Given the description of an element on the screen output the (x, y) to click on. 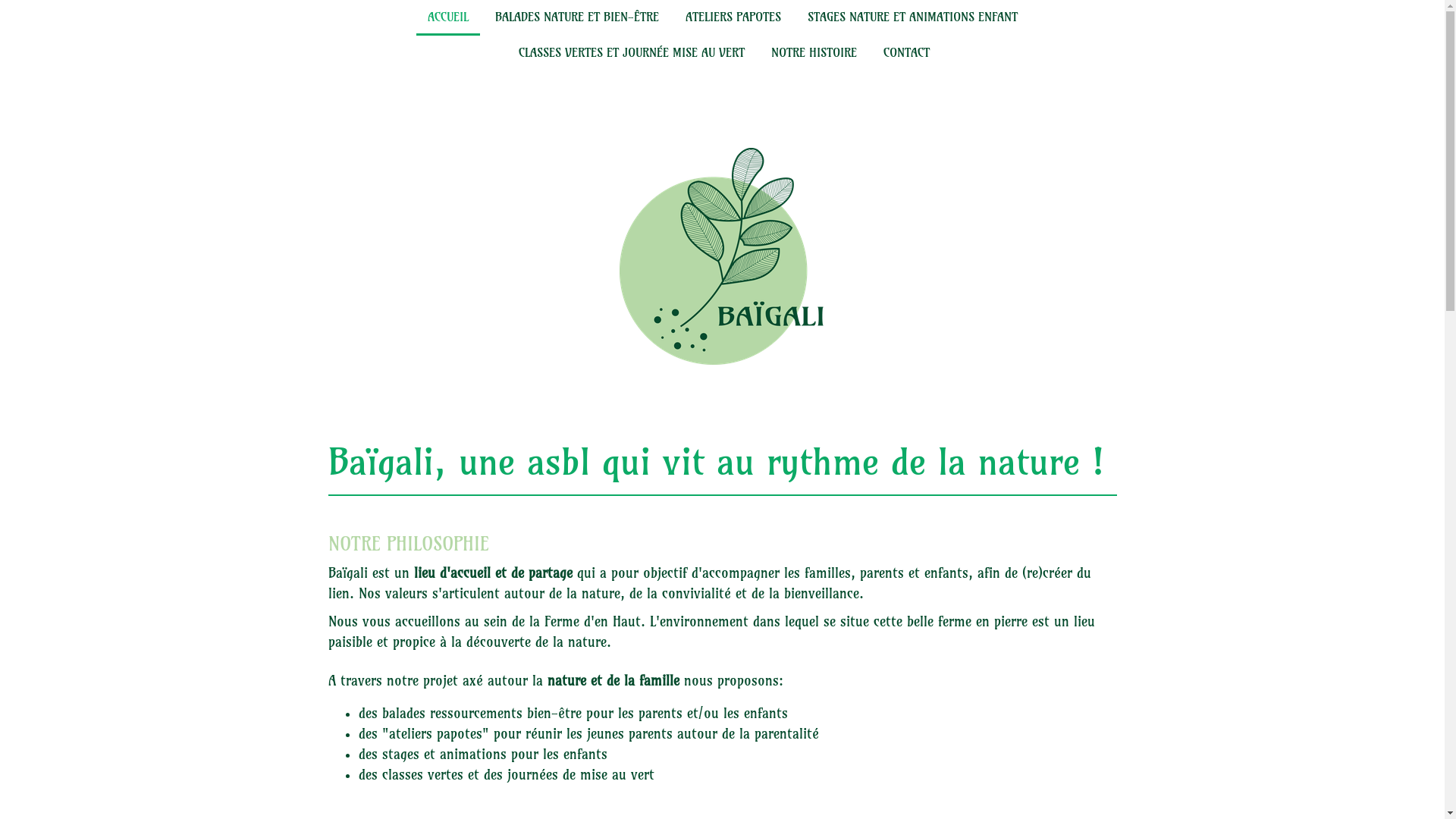
STAGES NATURE ET ANIMATIONS ENFANT Element type: text (912, 17)
NOTRE HISTOIRE Element type: text (813, 53)
ATELIERS PAPOTES Element type: text (732, 17)
ACCUEIL Element type: text (447, 17)
CONTACT Element type: text (906, 53)
